Given the description of an element on the screen output the (x, y) to click on. 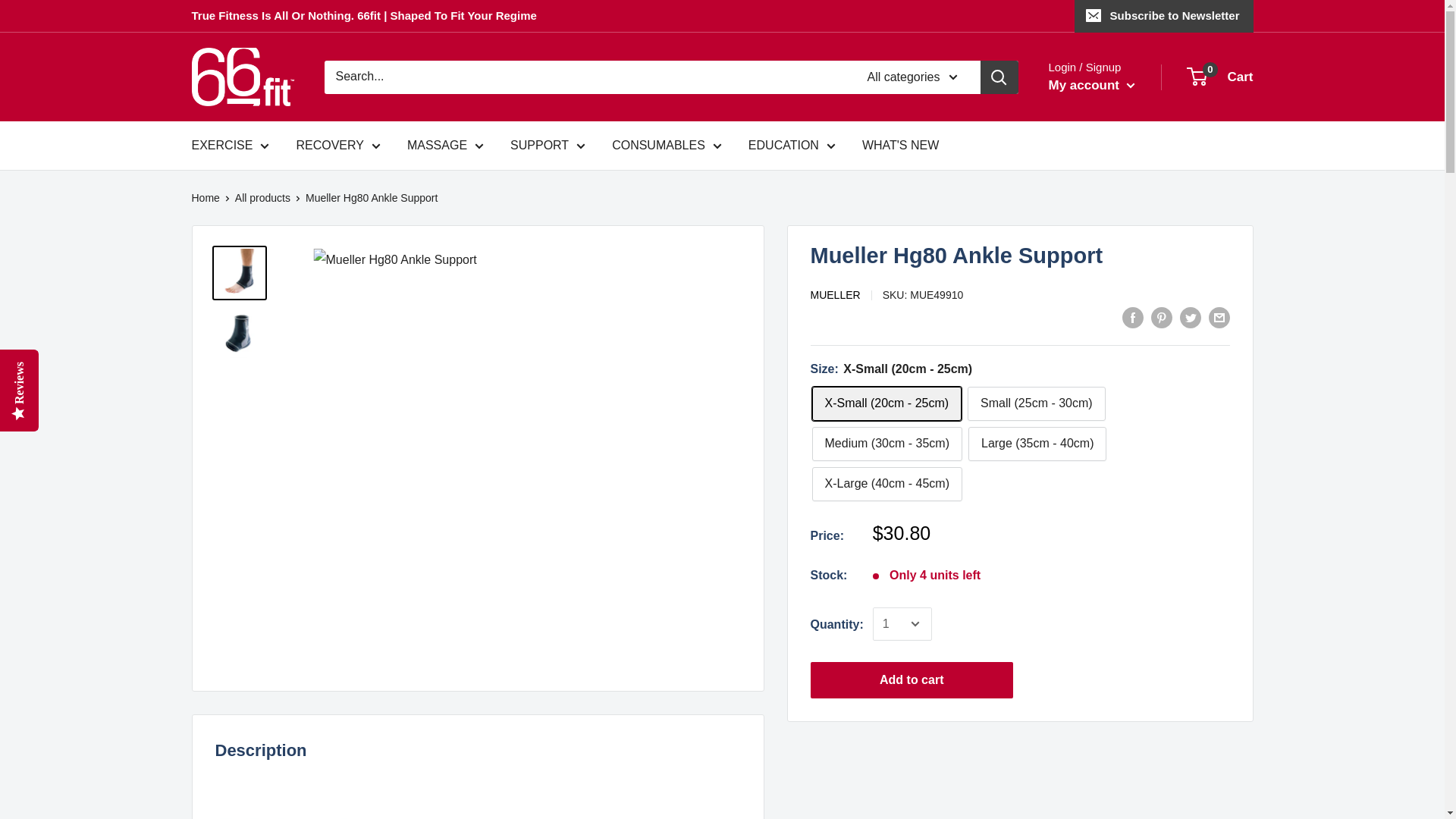
Subscribe to Newsletter (1163, 15)
